Given the description of an element on the screen output the (x, y) to click on. 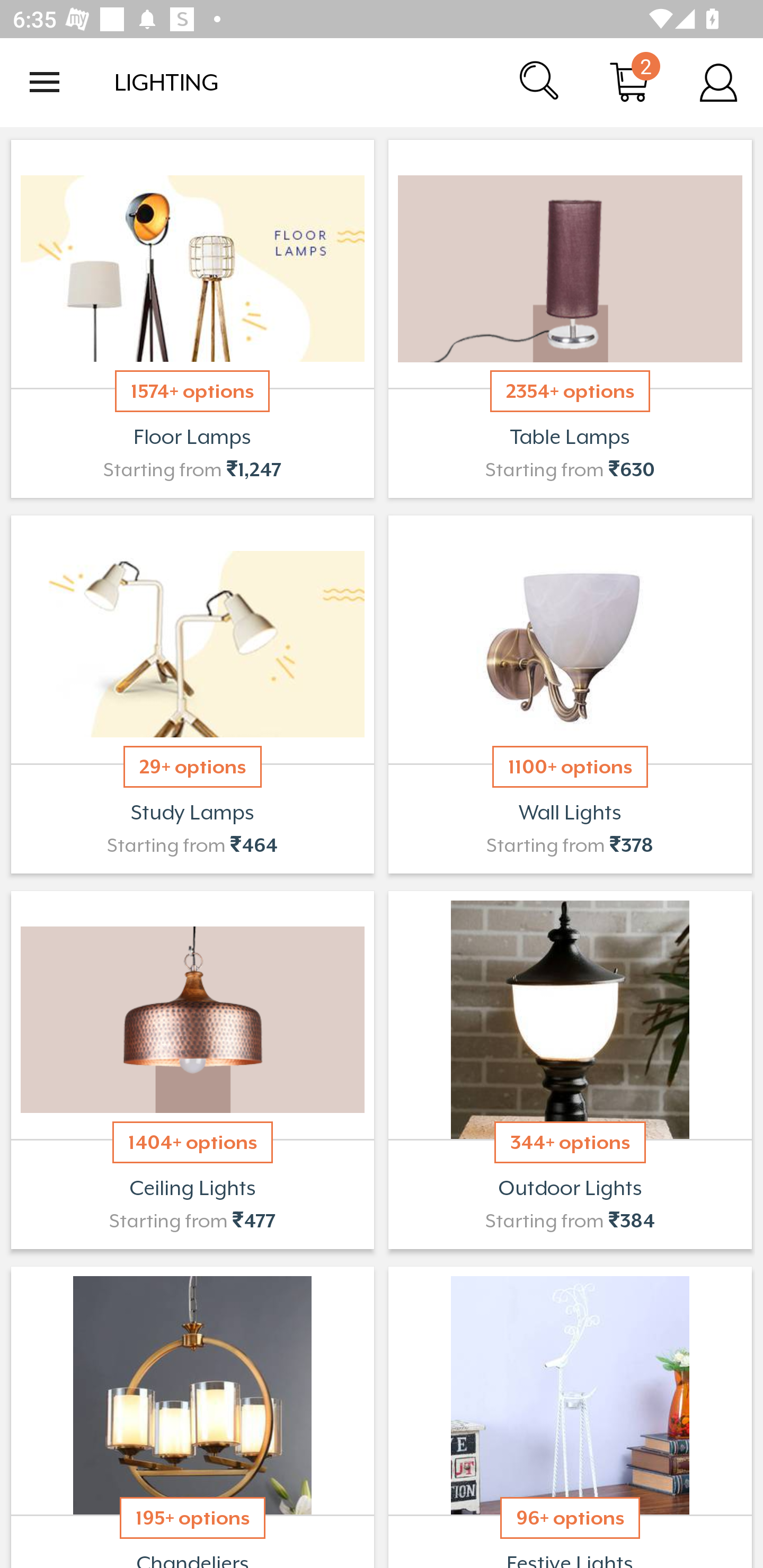
Open navigation drawer (44, 82)
Search (540, 81)
Cart (629, 81)
Account Details (718, 81)
1574+ options Floor Lamps Starting from  ₹1,247 (191, 318)
2354+ options Table Lamps Starting from  ₹630 (570, 318)
29+ options Study Lamps Starting from  ₹464 (191, 694)
1100+ options Wall Lights Starting from  ₹378 (570, 694)
1404+ options Ceiling Lights Starting from  ₹477 (191, 1069)
344+ options Outdoor Lights Starting from  ₹384 (570, 1069)
195+ options Chandeliers (191, 1415)
96+ options Festive Lights (570, 1415)
